Given the description of an element on the screen output the (x, y) to click on. 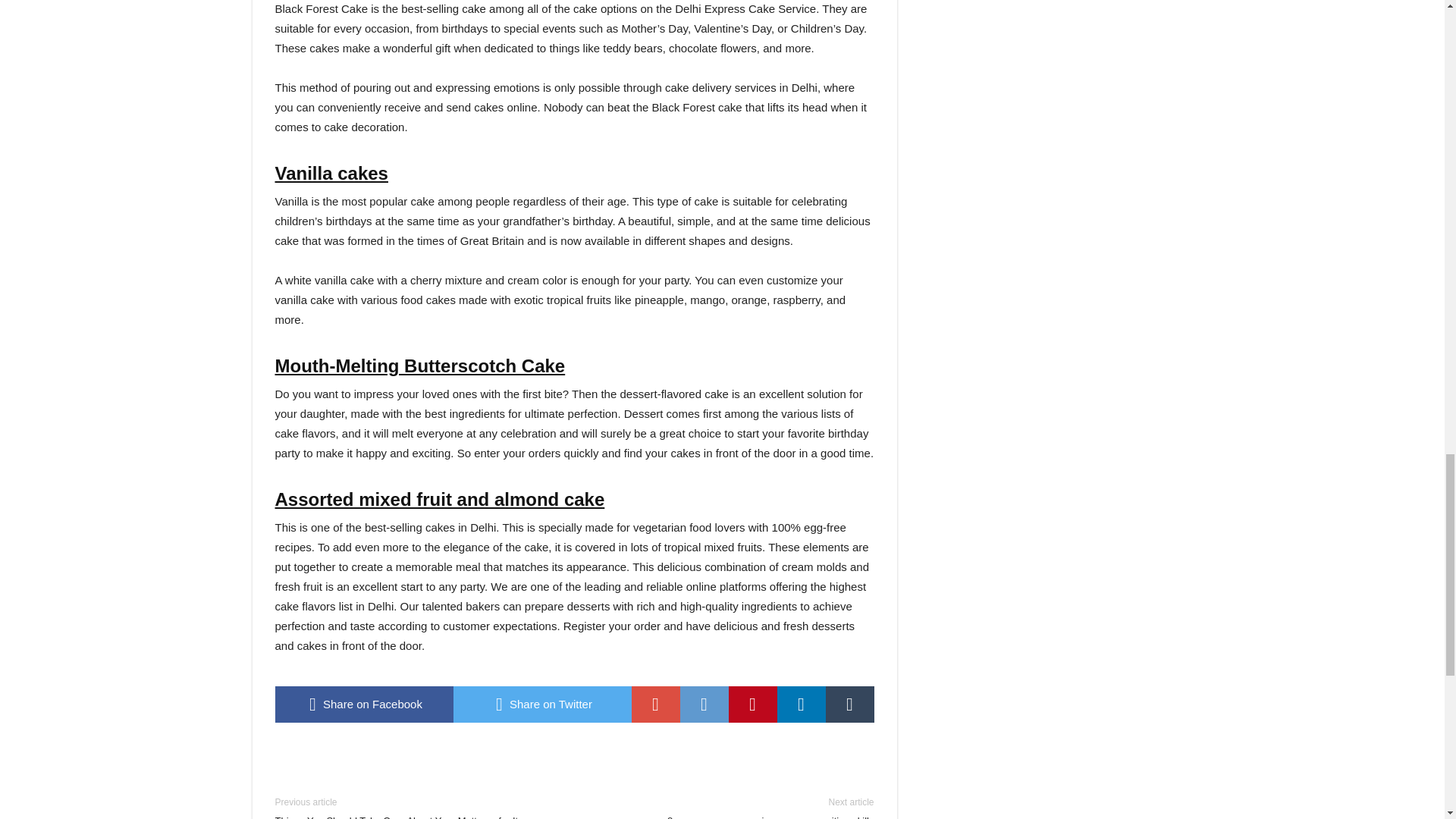
facebook (363, 704)
